Given the description of an element on the screen output the (x, y) to click on. 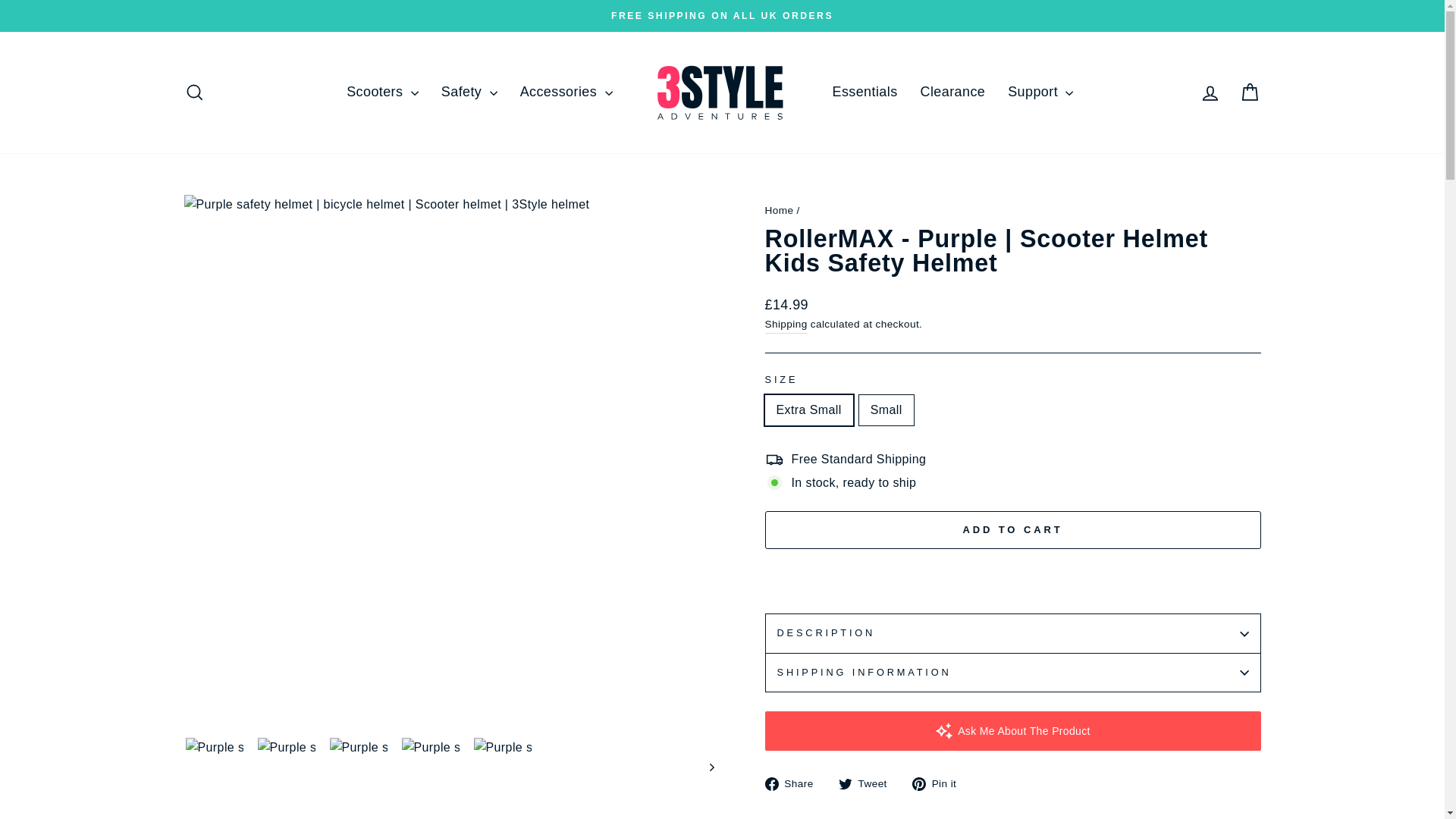
Pin on Pinterest (940, 783)
Share on Facebook (794, 783)
icon-search (194, 92)
twitter (844, 784)
Back to the frontpage (778, 210)
account (1210, 93)
Tweet on Twitter (868, 783)
